Given the description of an element on the screen output the (x, y) to click on. 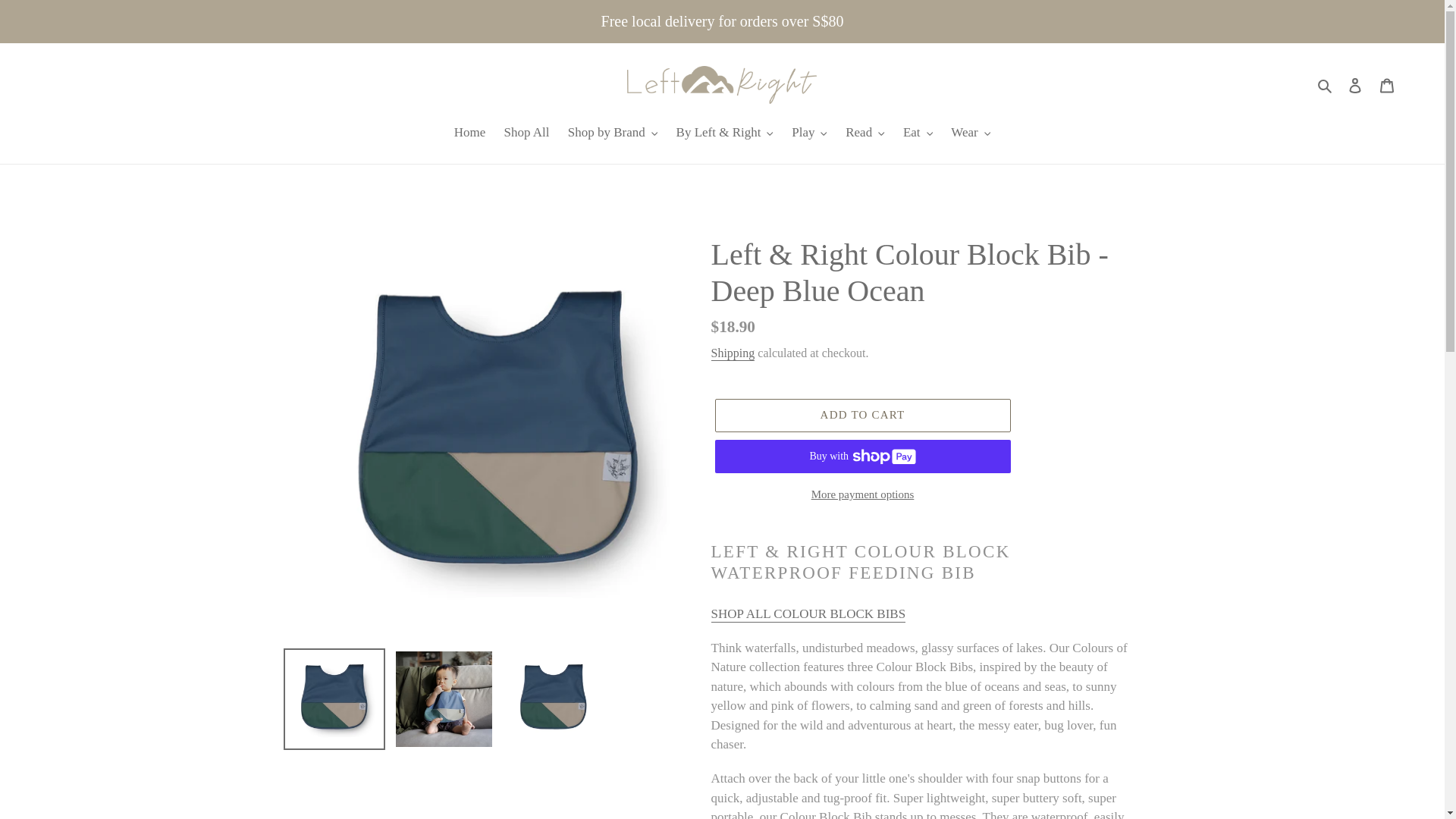
Cart (1387, 84)
Log in (1355, 84)
Search (1326, 84)
